Given the description of an element on the screen output the (x, y) to click on. 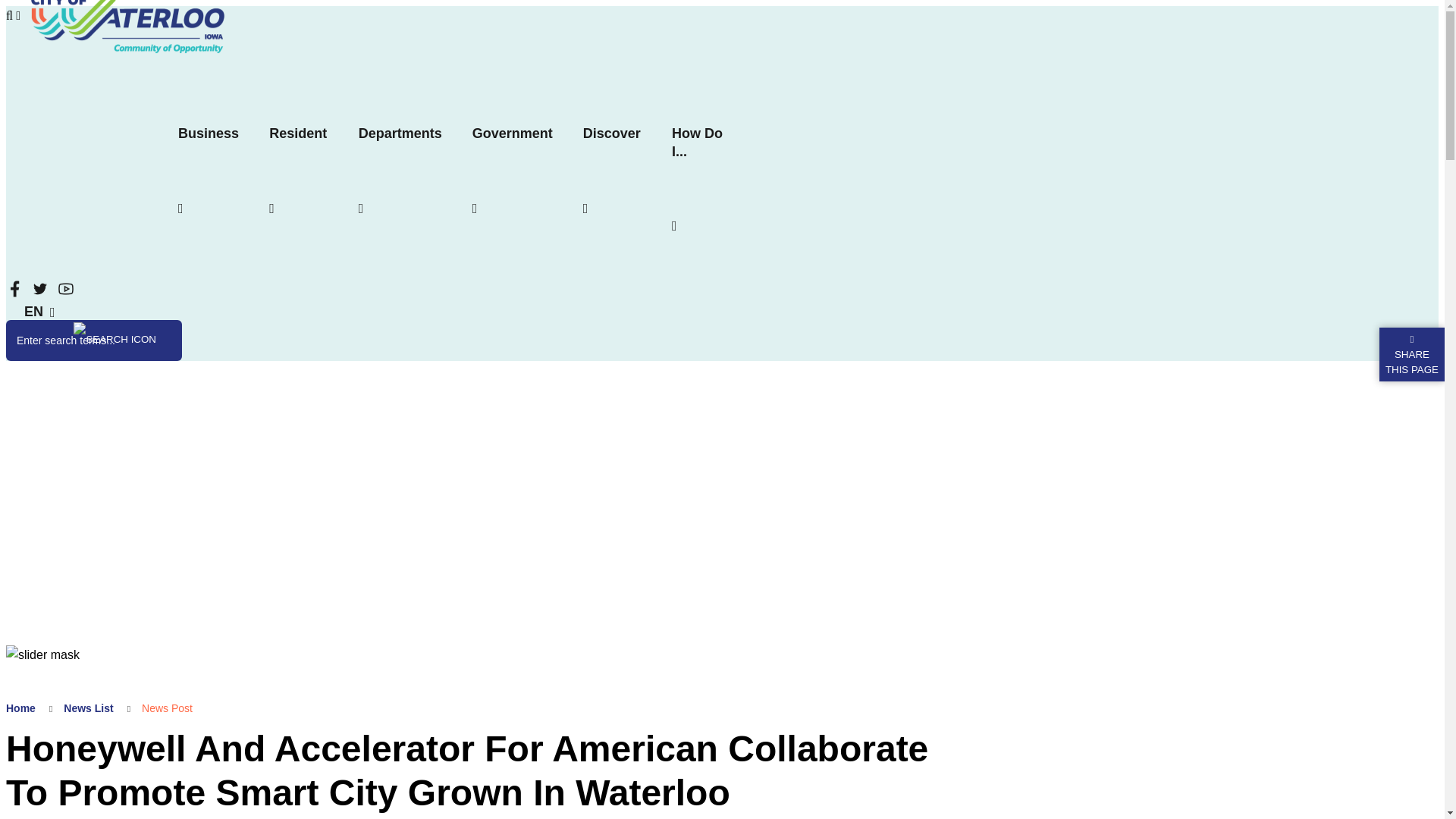
Business (208, 133)
Resident (297, 133)
Departments (400, 133)
